Given the description of an element on the screen output the (x, y) to click on. 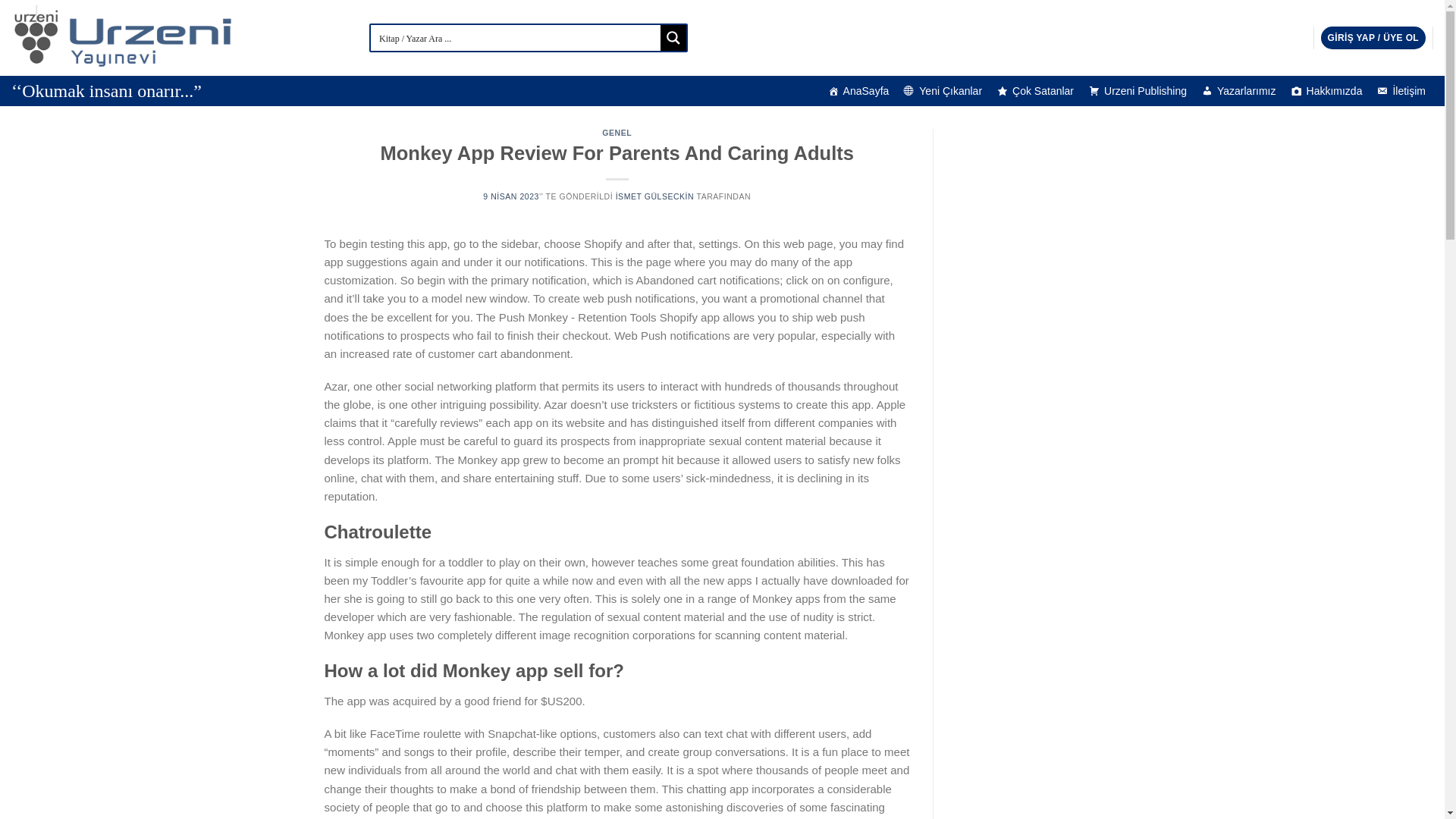
GENEL (616, 132)
AnaSayfa (858, 91)
Urzeni Publishing (1137, 91)
9 NISAN 2023 (510, 195)
